Given the description of an element on the screen output the (x, y) to click on. 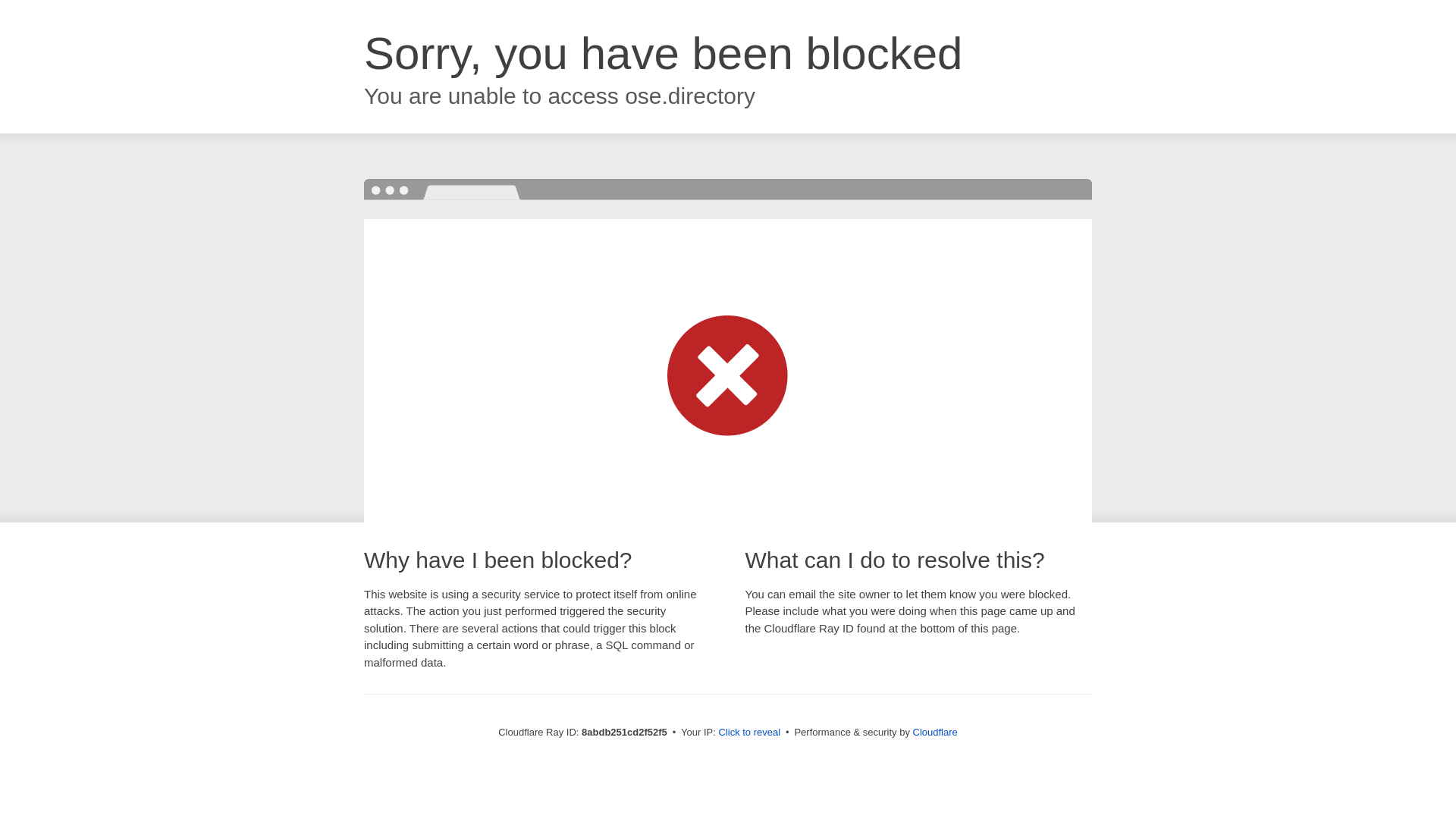
Cloudflare (935, 731)
Click to reveal (748, 732)
